Given the description of an element on the screen output the (x, y) to click on. 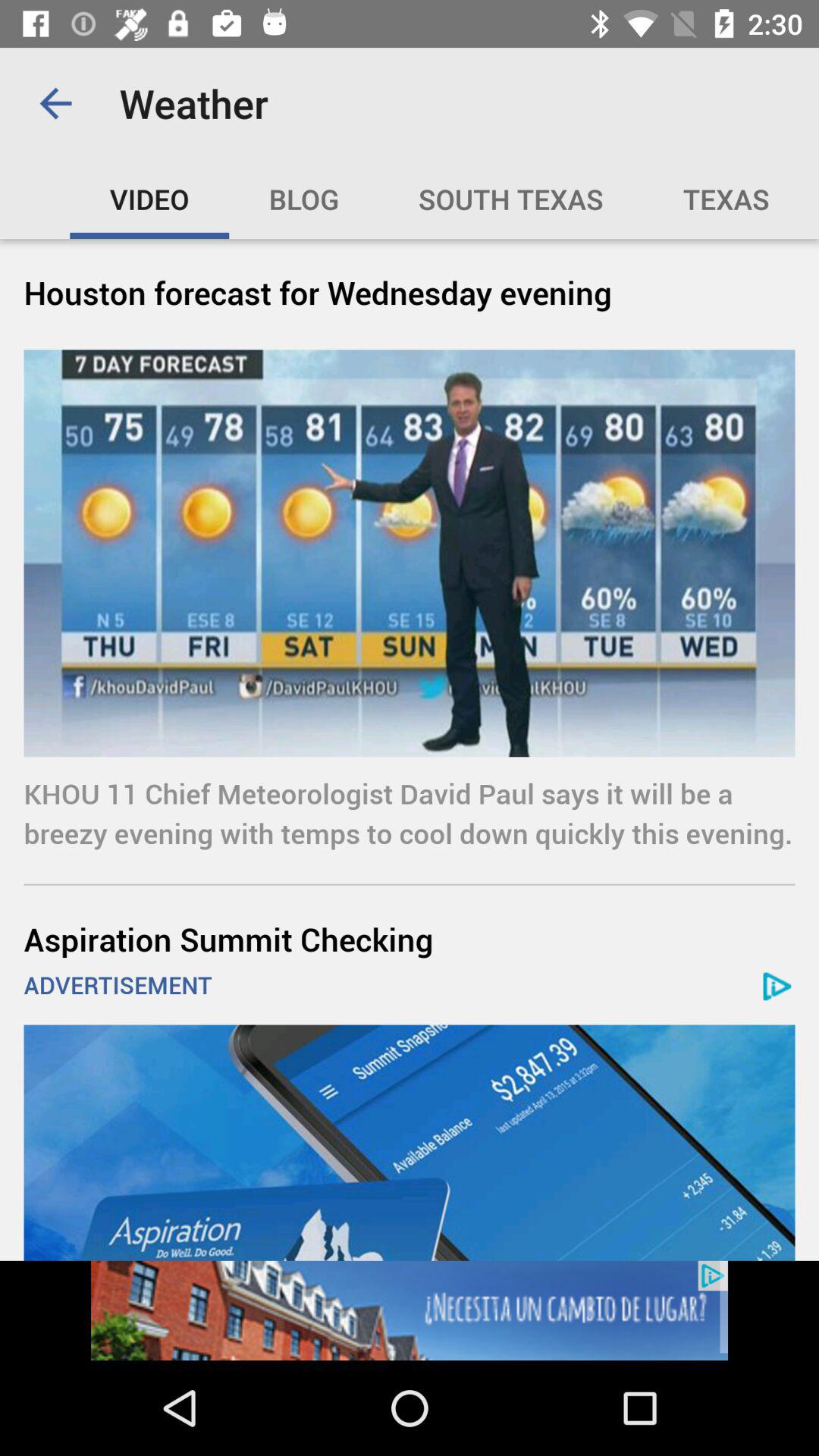
advertisement display (409, 1142)
